Given the description of an element on the screen output the (x, y) to click on. 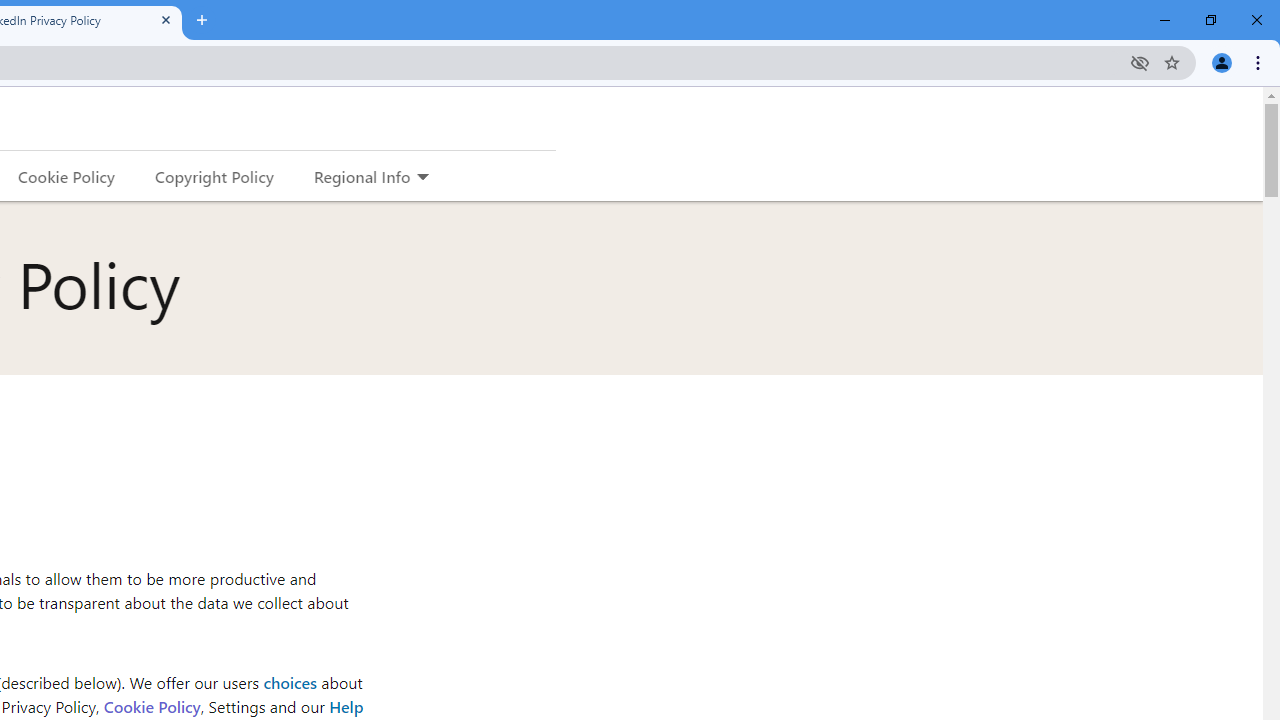
Regional Info (361, 176)
Expand to show more links for Regional Info (422, 178)
choices (289, 681)
Cookie Policy (151, 706)
Copyright Policy (213, 176)
